Given the description of an element on the screen output the (x, y) to click on. 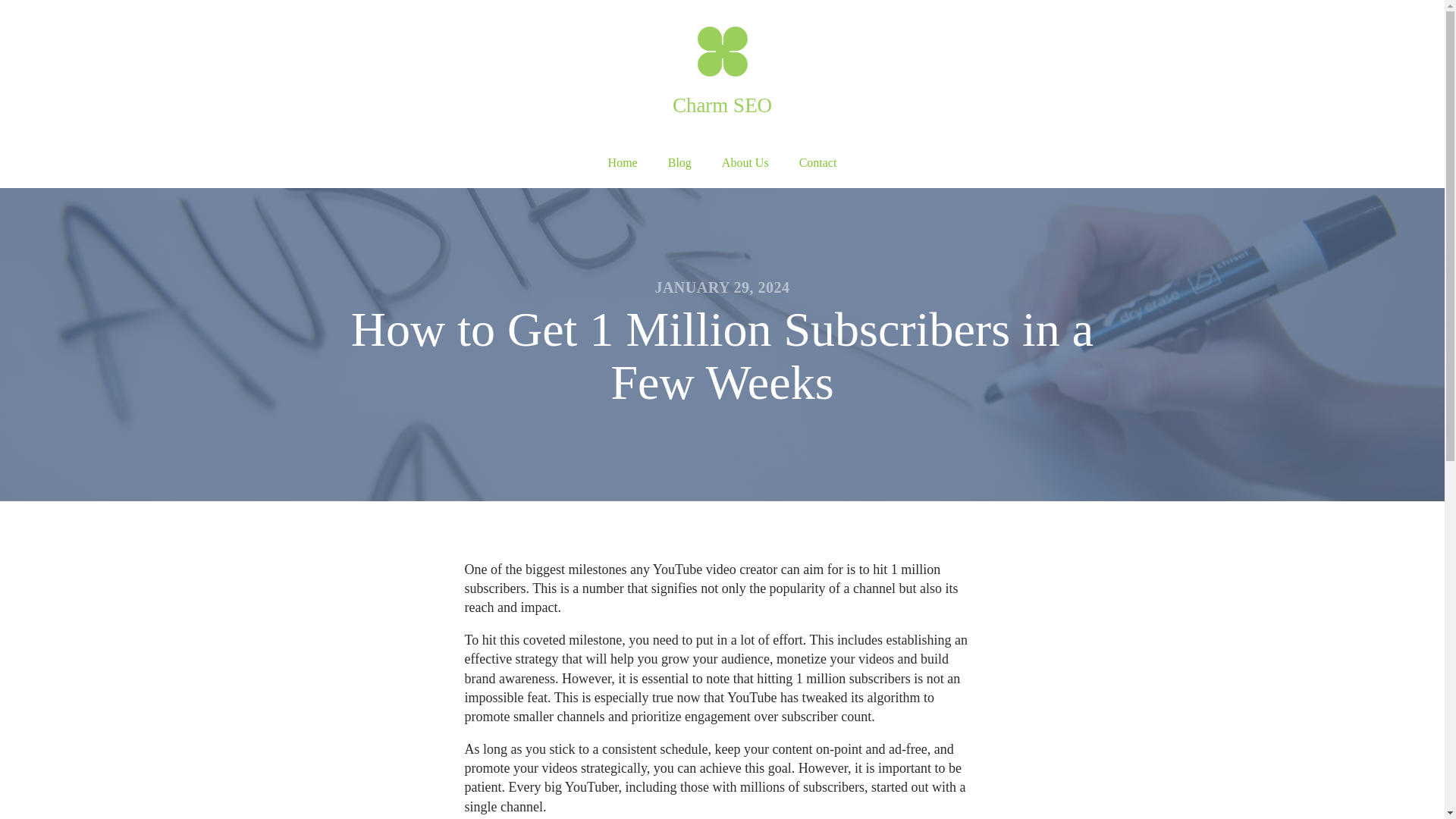
Blog (679, 163)
Contact (817, 163)
Home (622, 163)
About Us (745, 163)
